Given the description of an element on the screen output the (x, y) to click on. 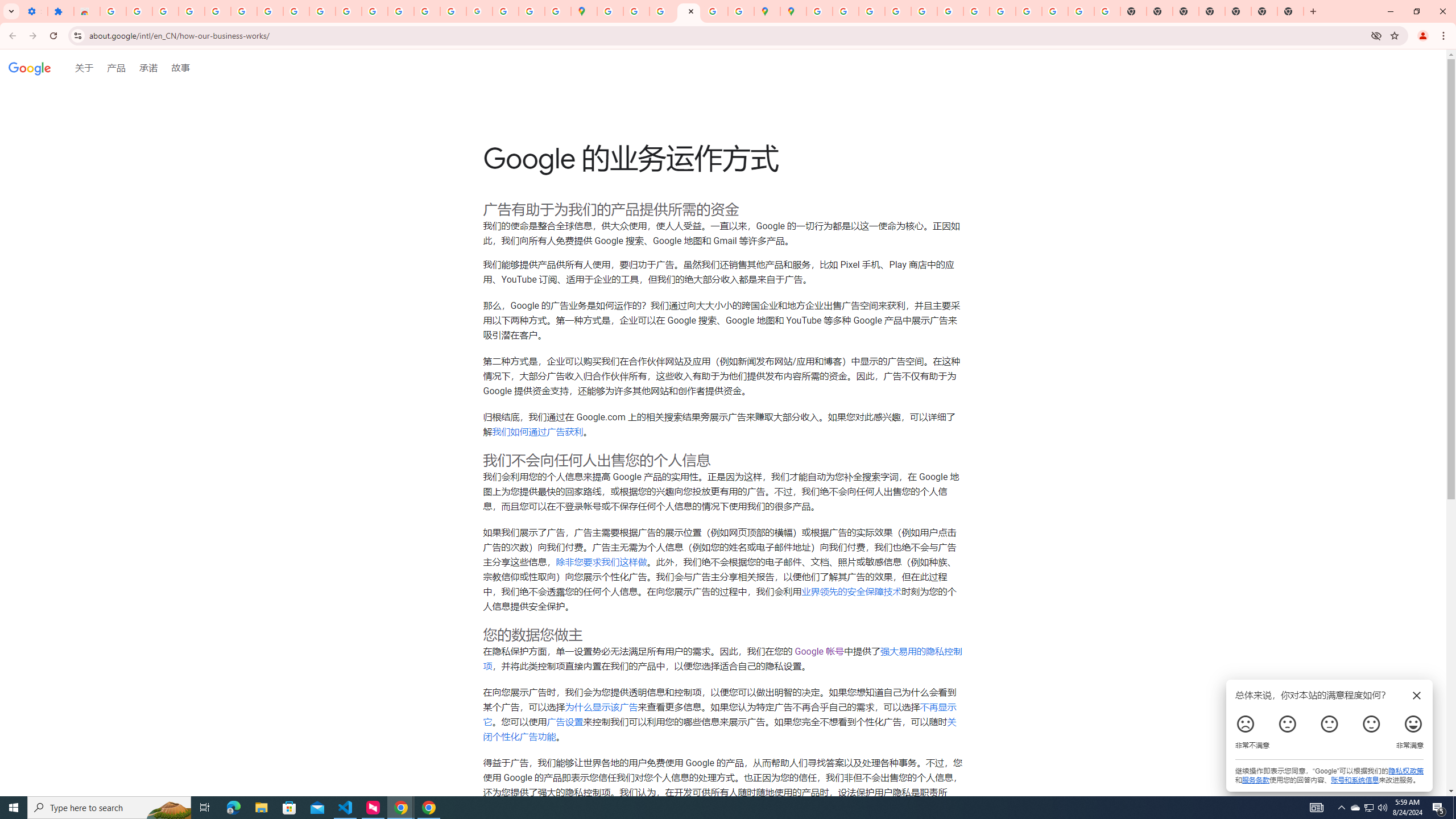
New Tab (1264, 11)
